Given the description of an element on the screen output the (x, y) to click on. 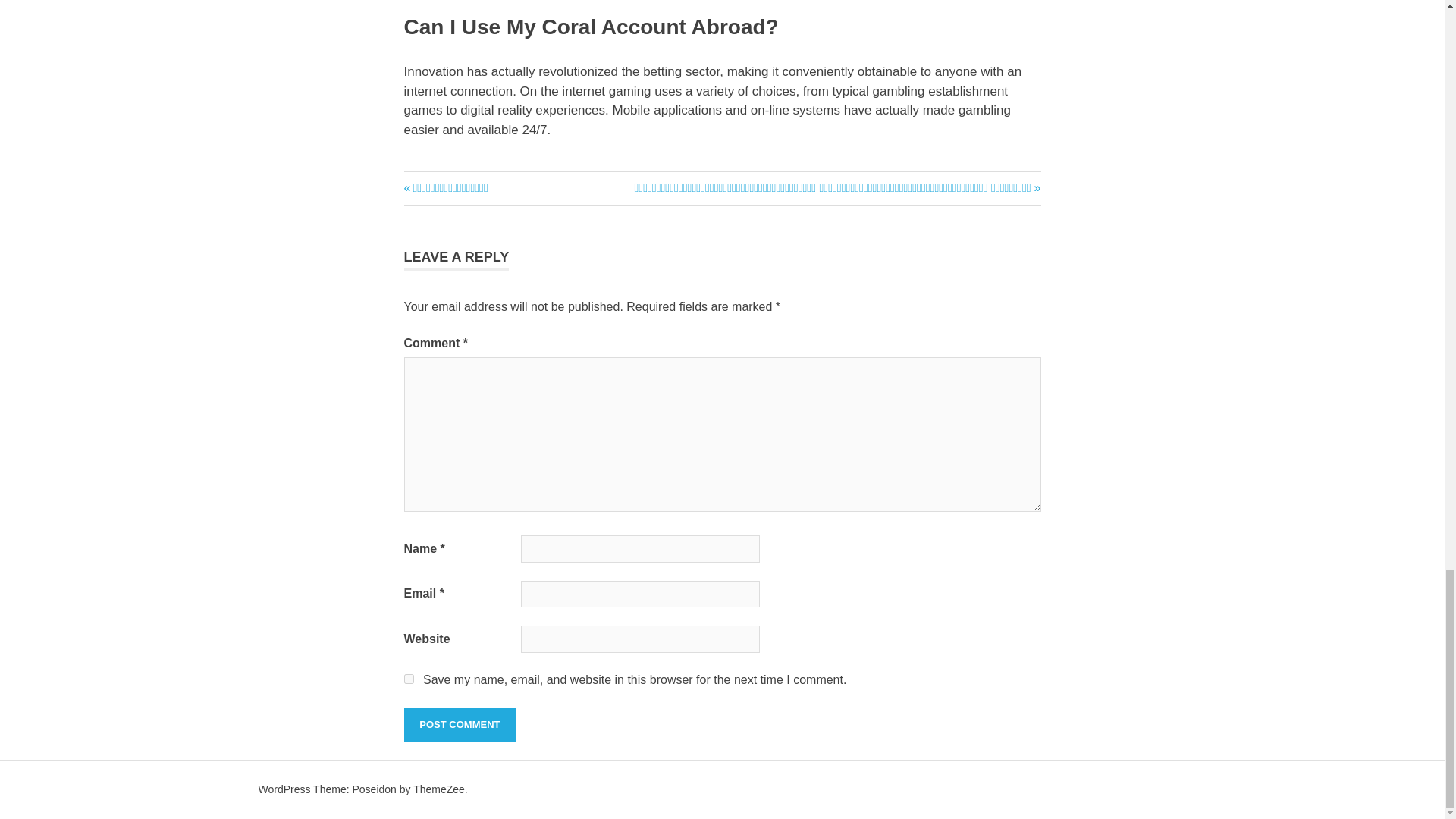
Post Comment (459, 724)
yes (408, 678)
Post Comment (459, 724)
